Given the description of an element on the screen output the (x, y) to click on. 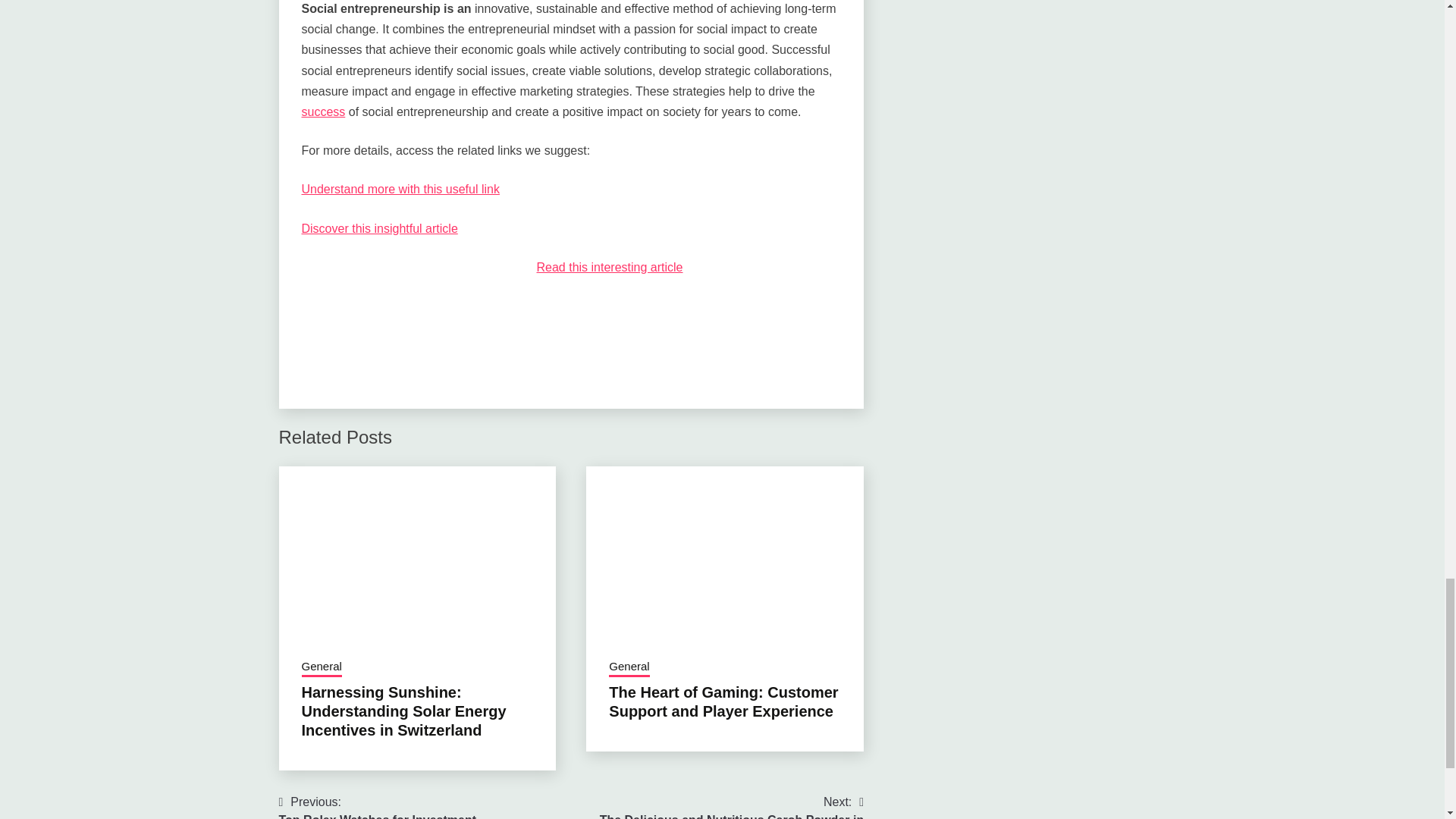
Read this interesting article (609, 267)
General (377, 806)
success (321, 668)
Discover this insightful article (323, 111)
General (379, 228)
Understand more with this useful link (628, 668)
The Heart of Gaming: Customer Support and Player Experience (400, 188)
